Given the description of an element on the screen output the (x, y) to click on. 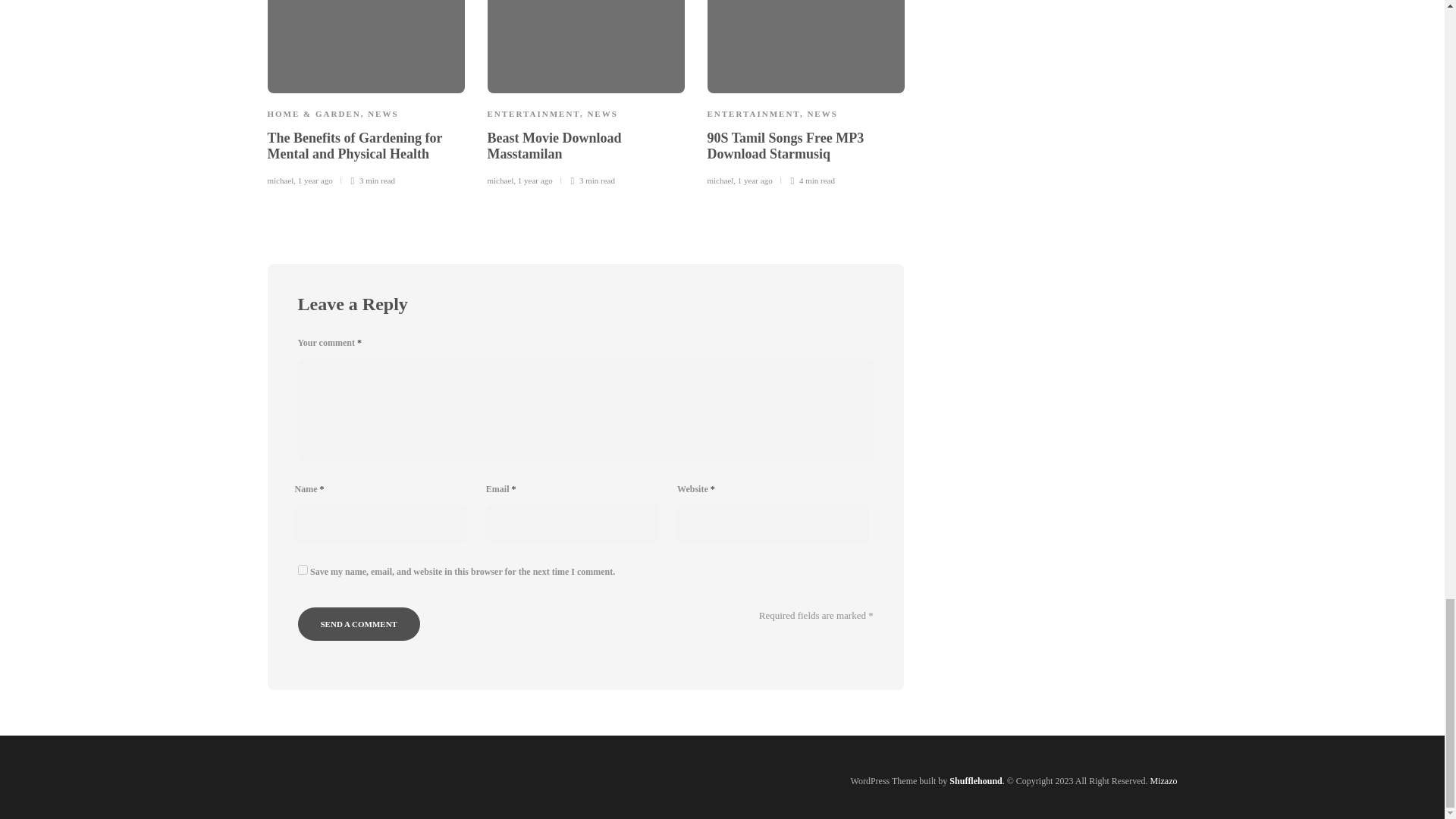
Send a comment (358, 623)
yes (302, 569)
